Given the description of an element on the screen output the (x, y) to click on. 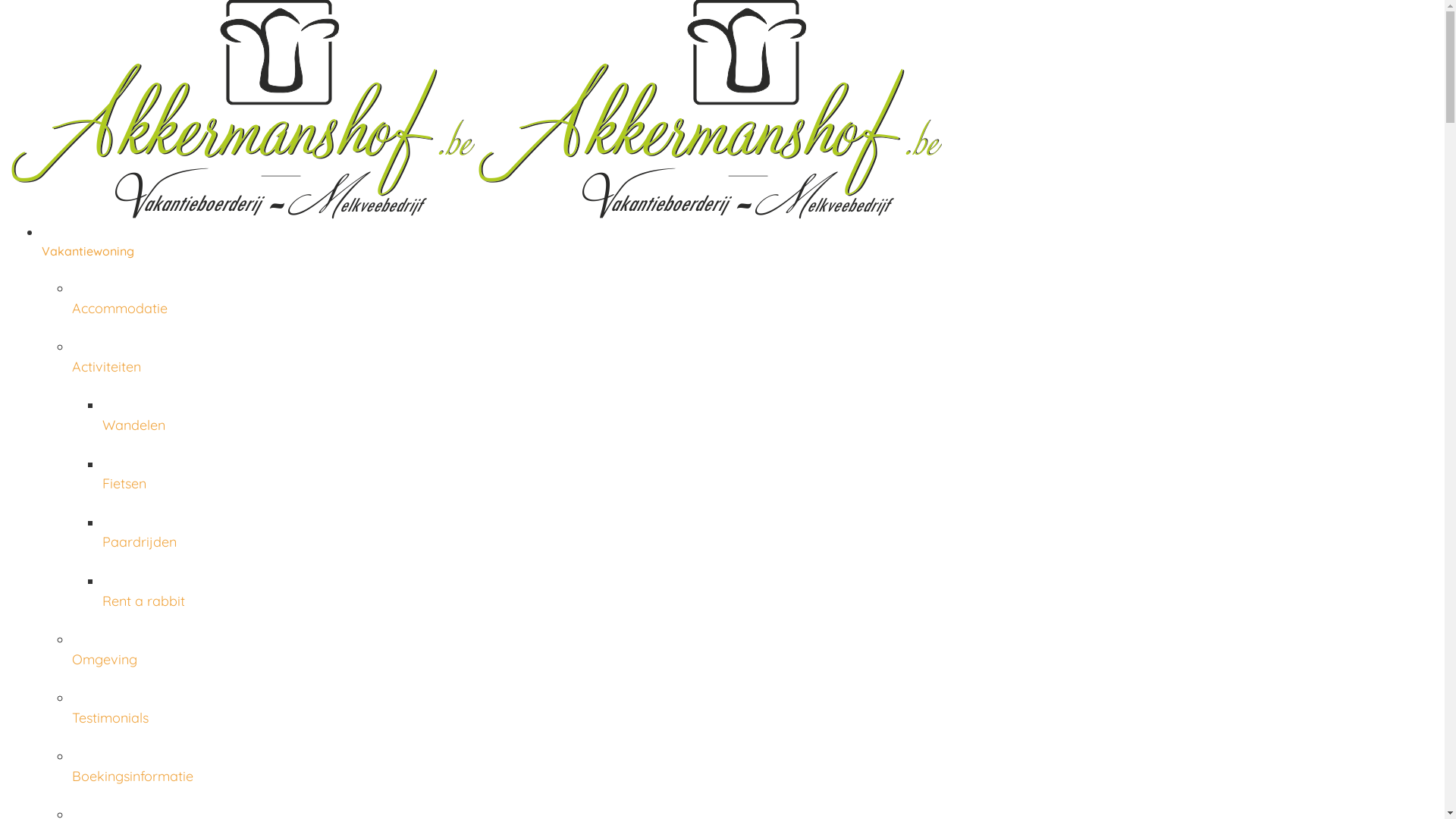
Activiteiten Element type: text (752, 365)
Wandelen Element type: text (767, 424)
Rent a rabbit Element type: text (767, 600)
Accommodatie Element type: text (752, 307)
Testimonials Element type: text (752, 717)
Vakantiewoning Element type: text (737, 251)
Fietsen Element type: text (767, 483)
Paardrijden Element type: text (767, 541)
Omgeving Element type: text (752, 658)
